Given the description of an element on the screen output the (x, y) to click on. 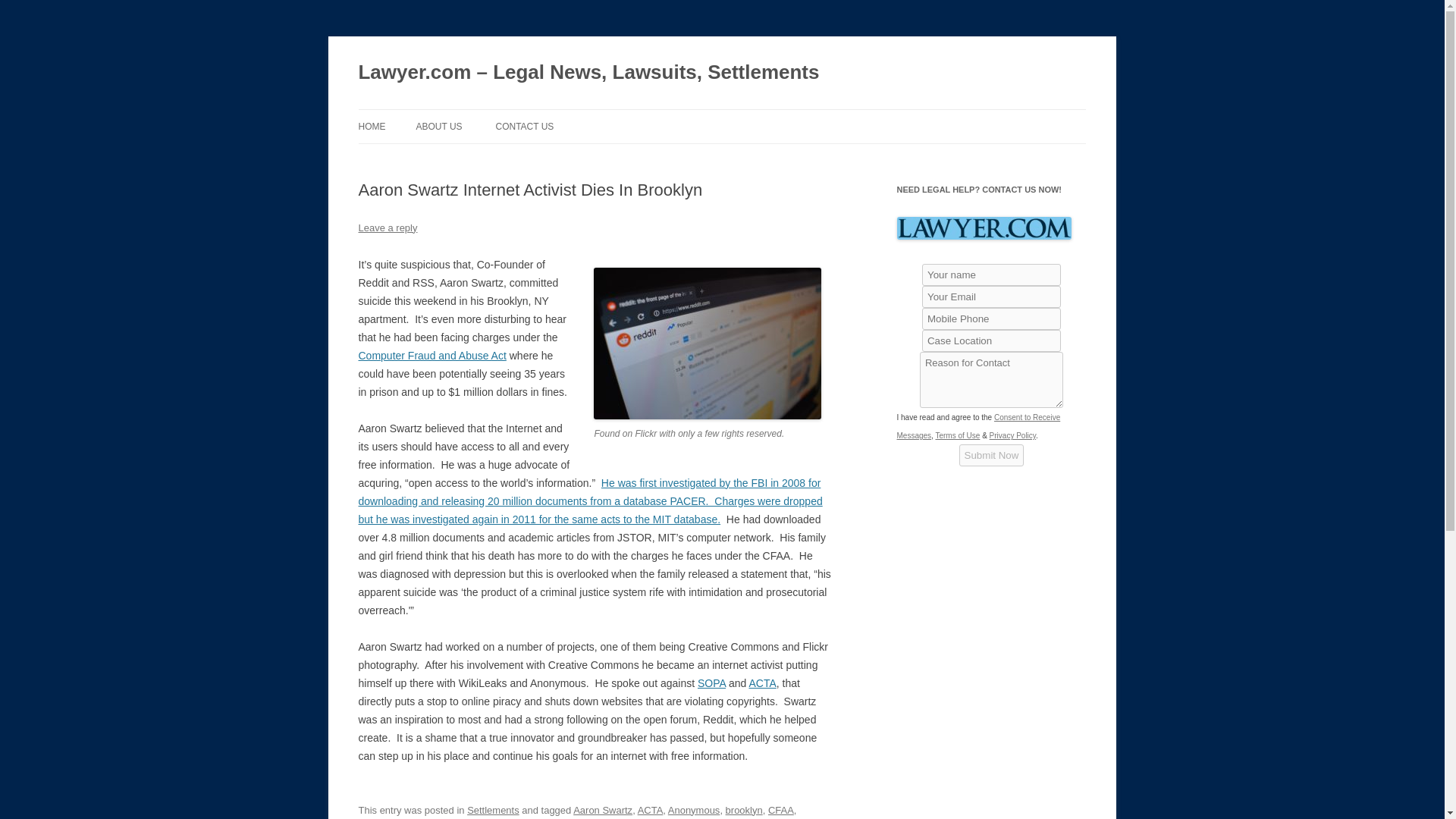
ACTA (650, 809)
Settlements (493, 809)
Computer Fraud and Abuse Act (431, 355)
SOPA (711, 683)
ABOUT US (437, 126)
CONTACT US (524, 126)
ACTA (762, 683)
Computer Fraud and Abuse Act (431, 355)
brooklyn (743, 809)
Aaron Swartz (602, 809)
SOPA (711, 683)
Leave a reply (387, 227)
